Given the description of an element on the screen output the (x, y) to click on. 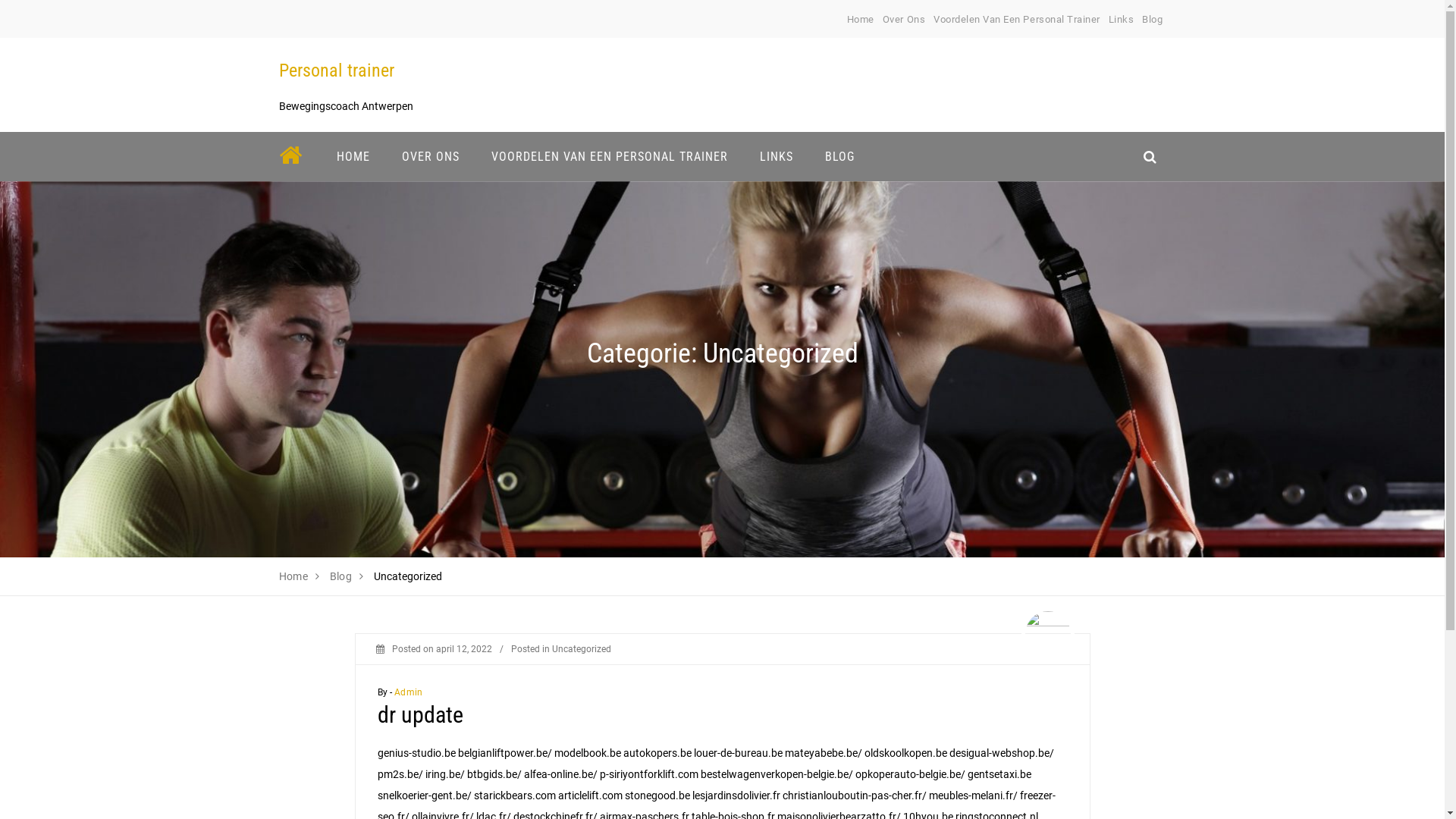
Blog Element type: text (1152, 19)
dr update Element type: text (420, 714)
Links Element type: text (1121, 19)
LINKS Element type: text (775, 156)
Over Ons Element type: text (903, 19)
search_icon Element type: hover (1148, 156)
VOORDELEN VAN EEN PERSONAL TRAINER Element type: text (608, 156)
Uncategorized Element type: text (581, 648)
HOME Element type: text (352, 156)
BLOG Element type: text (838, 156)
OVER ONS Element type: text (429, 156)
Home Element type: text (860, 19)
Personal trainer Element type: text (336, 70)
Blog Element type: text (340, 576)
Admin Element type: text (408, 692)
Home Element type: text (293, 576)
Voordelen Van Een Personal Trainer Element type: text (1016, 19)
